Given the description of an element on the screen output the (x, y) to click on. 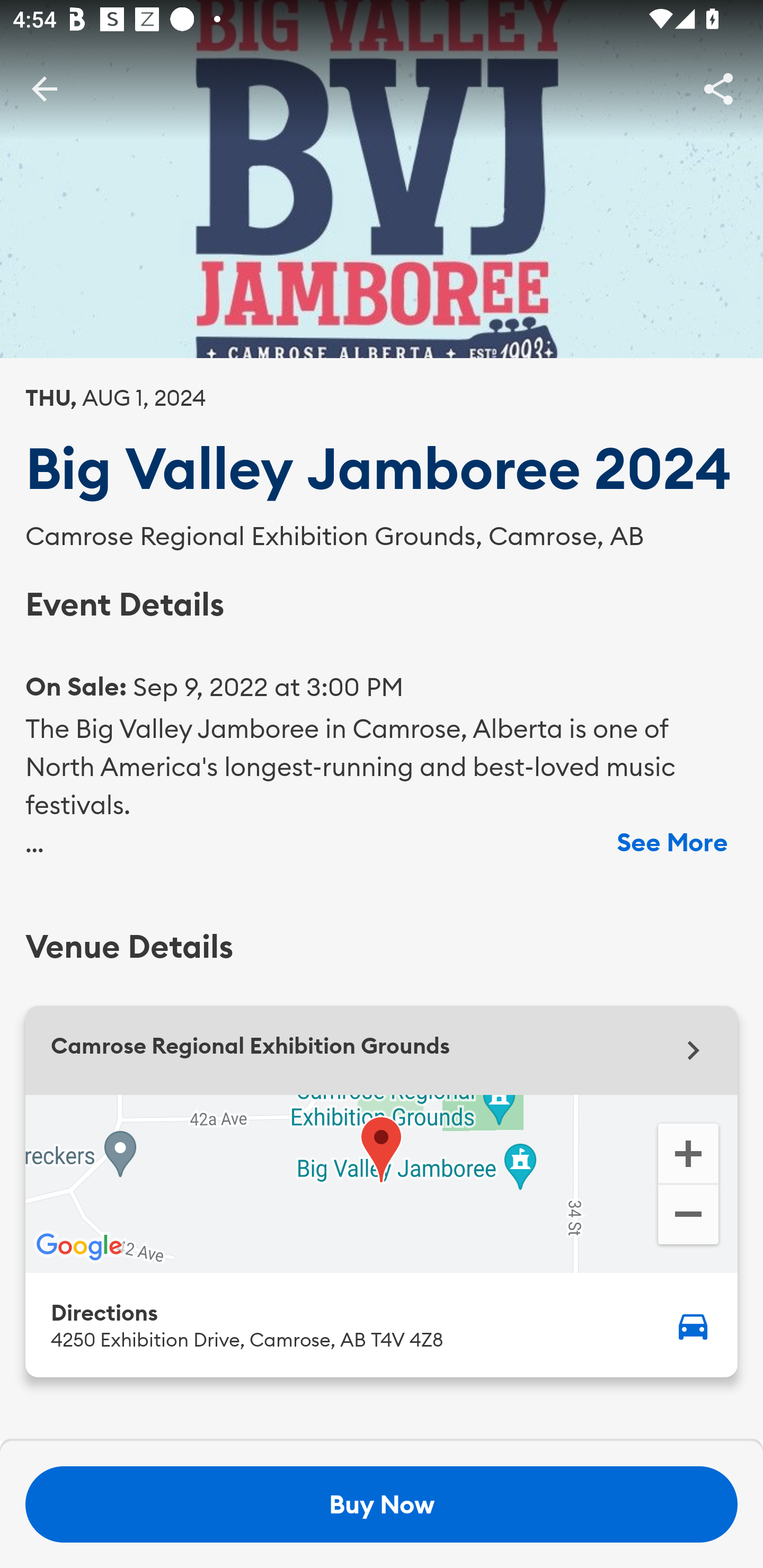
BackButton (44, 88)
Share (718, 88)
See More (671, 842)
Camrose Regional Exhibition Grounds (381, 1050)
Zoom in (687, 1152)
Zoom out (687, 1216)
Buy Now (381, 1504)
